Given the description of an element on the screen output the (x, y) to click on. 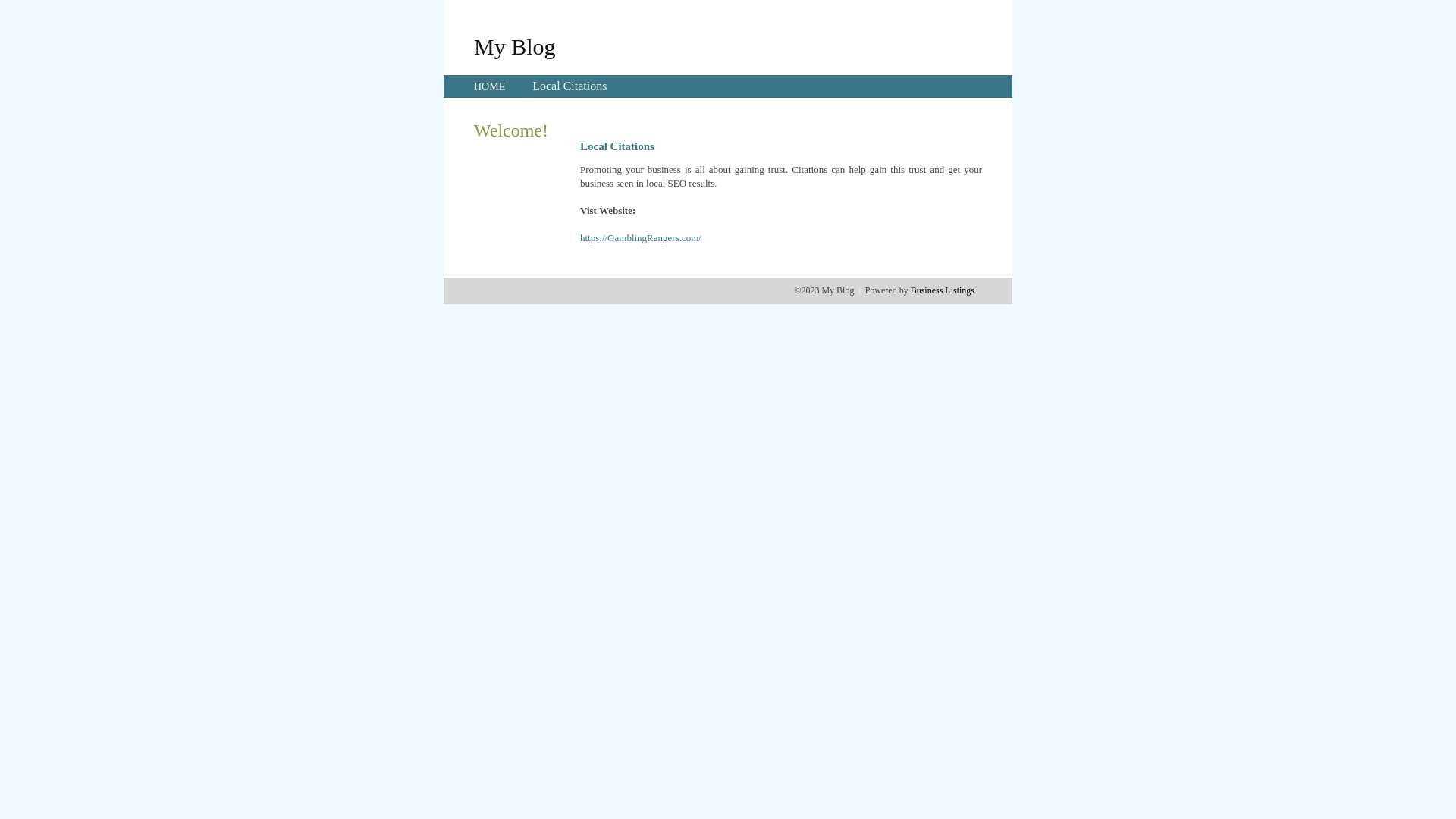
HOME Element type: text (489, 86)
Local Citations Element type: text (569, 85)
My Blog Element type: text (514, 46)
Business Listings Element type: text (942, 290)
https://GamblingRangers.com/ Element type: text (640, 237)
